Given the description of an element on the screen output the (x, y) to click on. 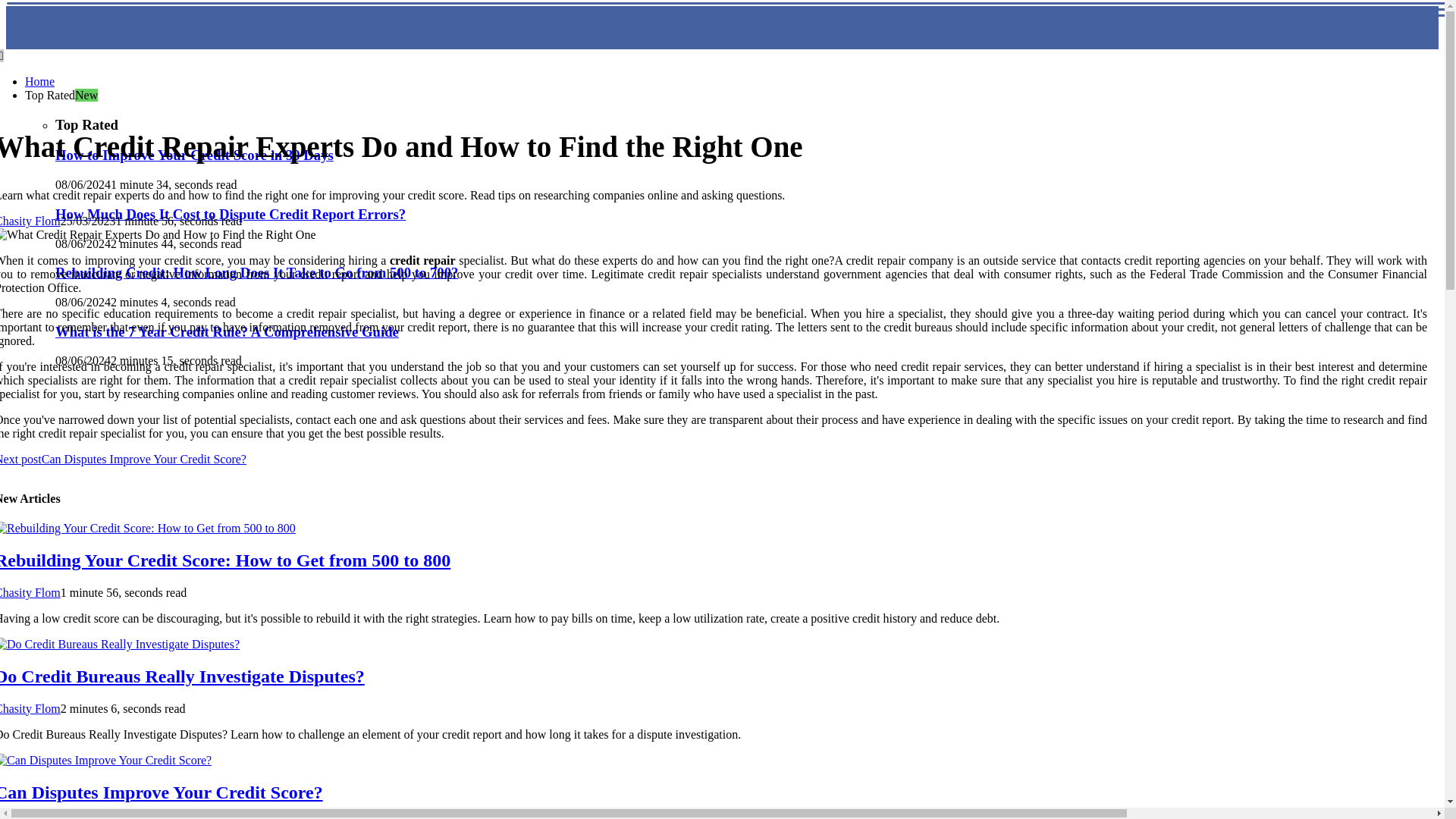
How Much Does It Cost to Dispute Credit Report Errors? (230, 213)
Chasity Flom (30, 220)
Do Credit Bureaus Really Investigate Disputes? (182, 676)
Posts by Chasity Flom (30, 818)
Next postCan Disputes Improve Your Credit Score? (123, 459)
Chasity Flom (30, 707)
Can Disputes Improve Your Credit Score? (161, 792)
Home (39, 81)
What is the 7 Year Credit Rule? A Comprehensive Guide (226, 331)
Top RatedNew (60, 94)
How to Improve Your Credit Score in 30 Days (194, 154)
Chasity Flom (30, 818)
Posts by Chasity Flom (30, 707)
Posts by Chasity Flom (30, 592)
